Given the description of an element on the screen output the (x, y) to click on. 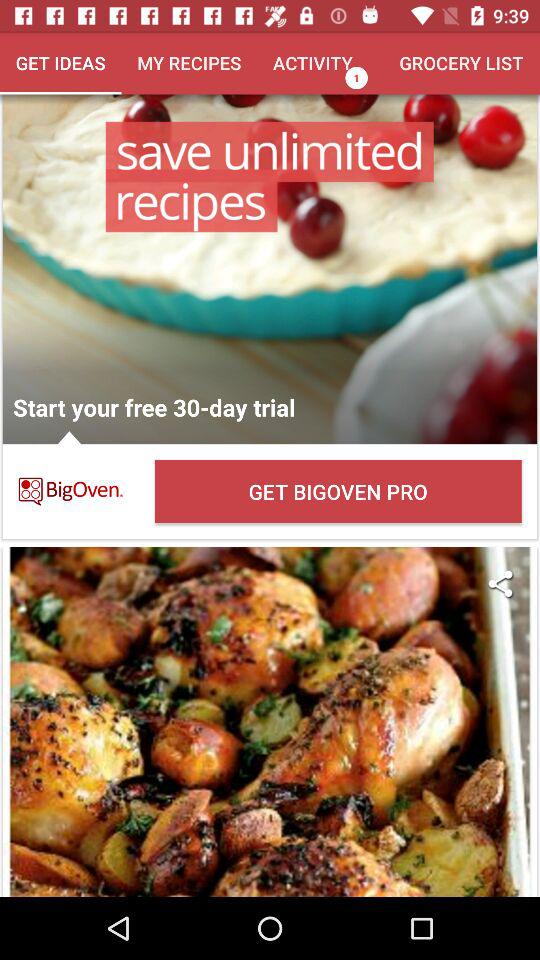
turn on the item on the right (500, 583)
